Given the description of an element on the screen output the (x, y) to click on. 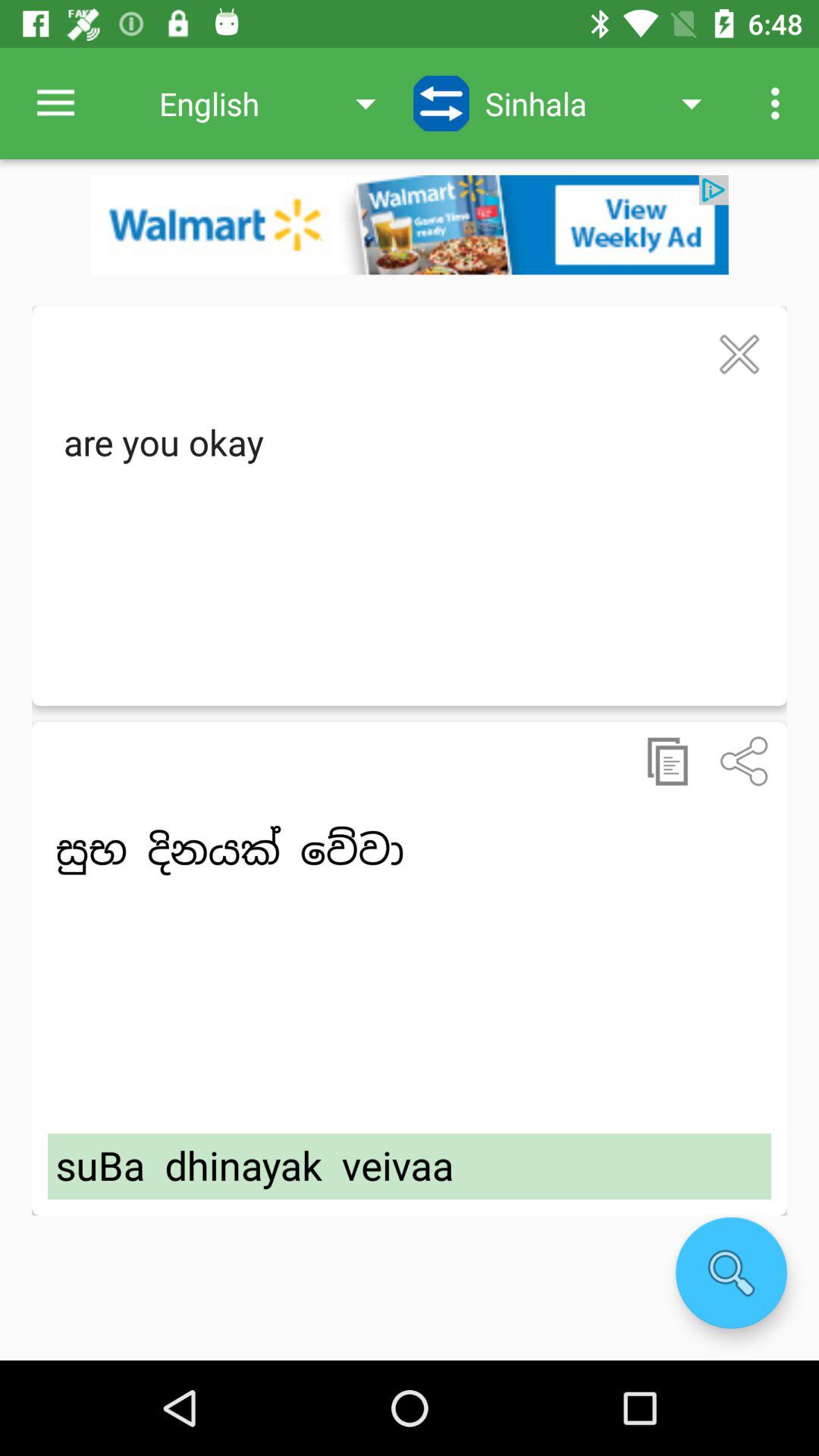
swap languages (441, 103)
